Given the description of an element on the screen output the (x, y) to click on. 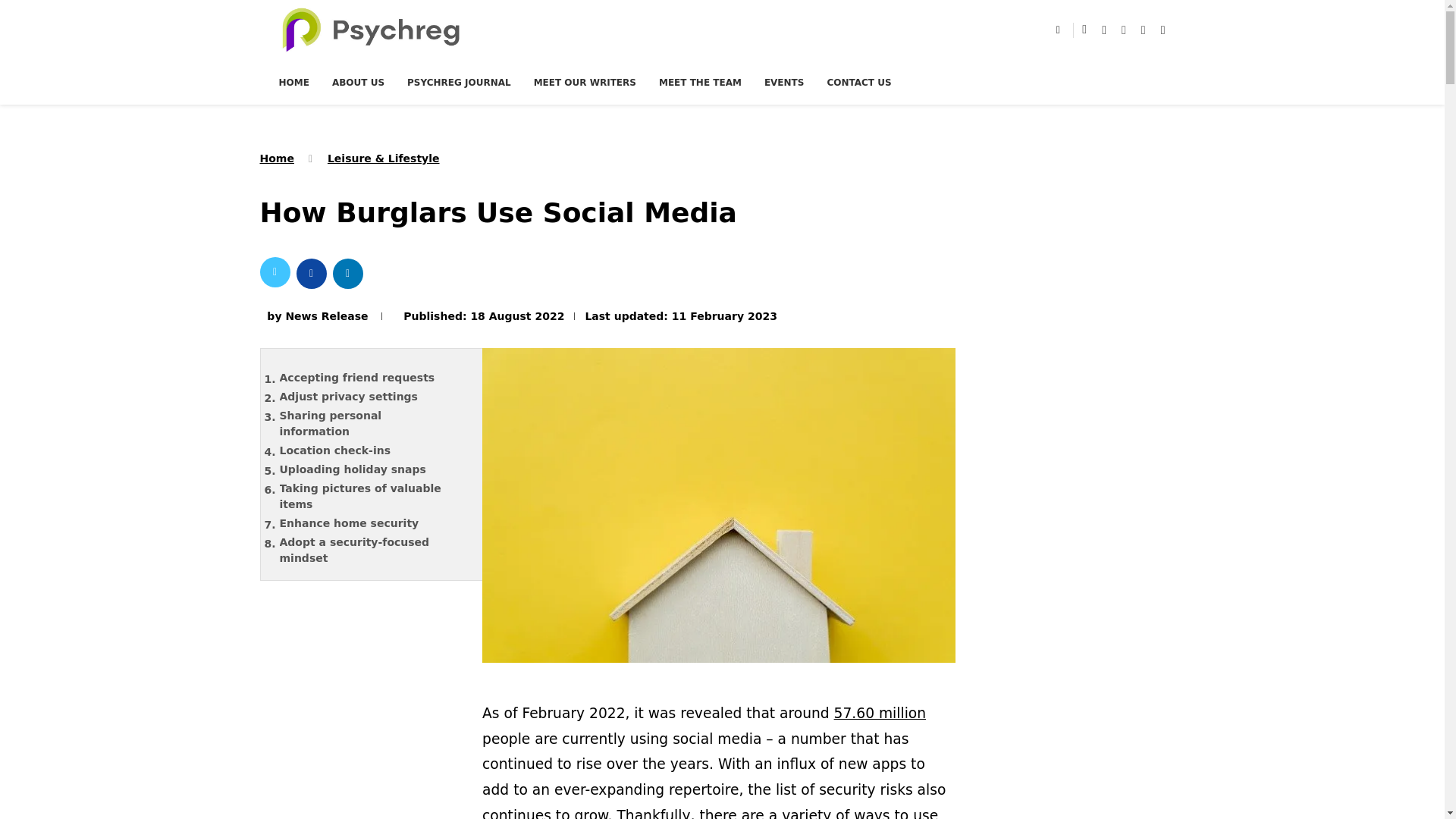
Adopt a security-focused mindset (373, 550)
Accepting friend requests (373, 377)
MEET OUR WRITERS (585, 82)
ABOUT US (357, 82)
Sharing personal information (373, 423)
Adjust privacy settings (373, 396)
Uploading holiday snaps (373, 469)
Enhance home security (373, 523)
CONTACT US (859, 82)
Location check-ins (373, 450)
EVENTS (784, 82)
Taking pictures of valuable items (373, 496)
MEET THE TEAM (700, 82)
PSYCHREG JOURNAL (459, 82)
